Given the description of an element on the screen output the (x, y) to click on. 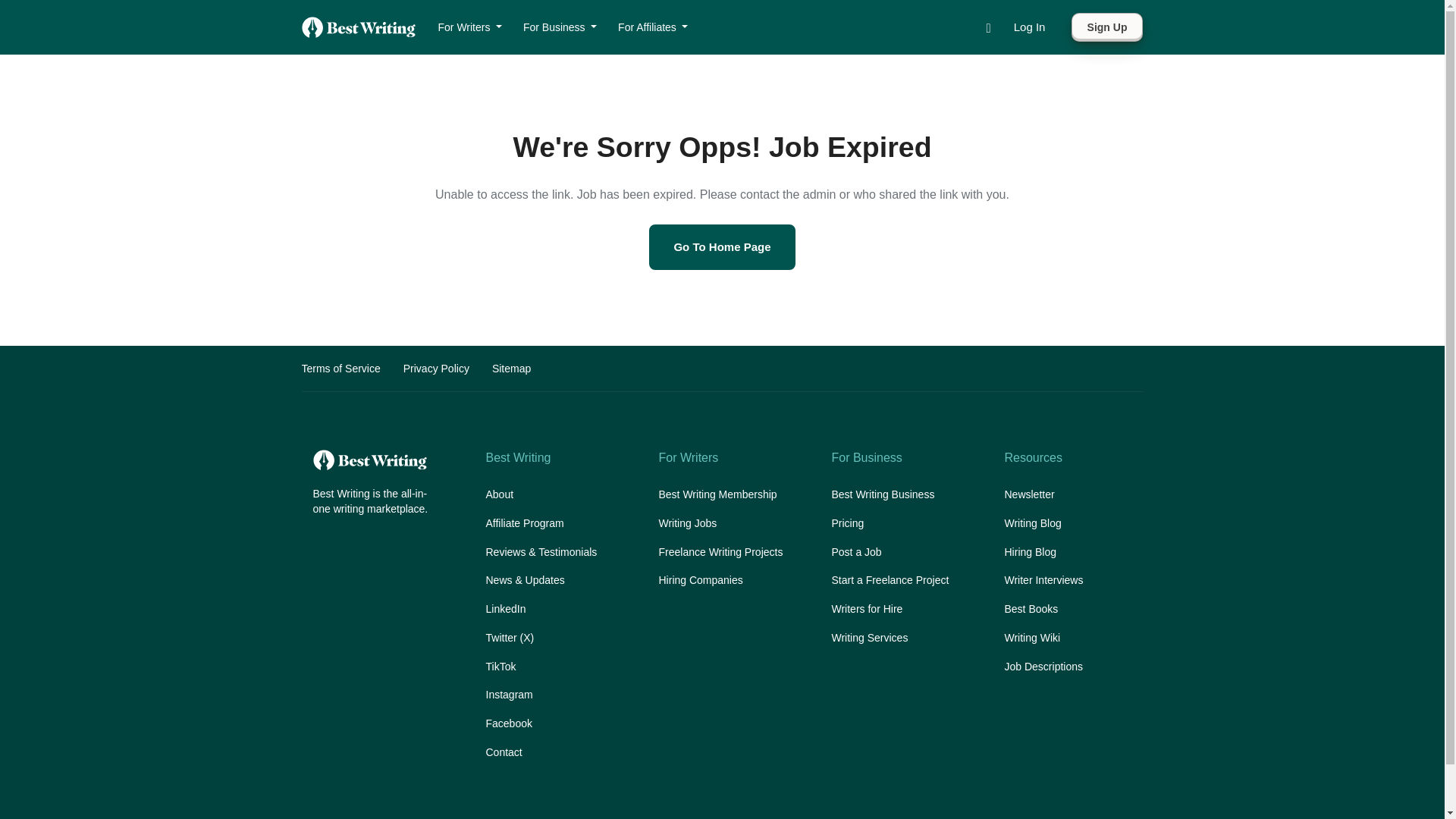
For Business (559, 27)
Log In (1029, 26)
Sign Up (1106, 27)
For Affiliates (652, 27)
For Writers (470, 27)
